Given the description of an element on the screen output the (x, y) to click on. 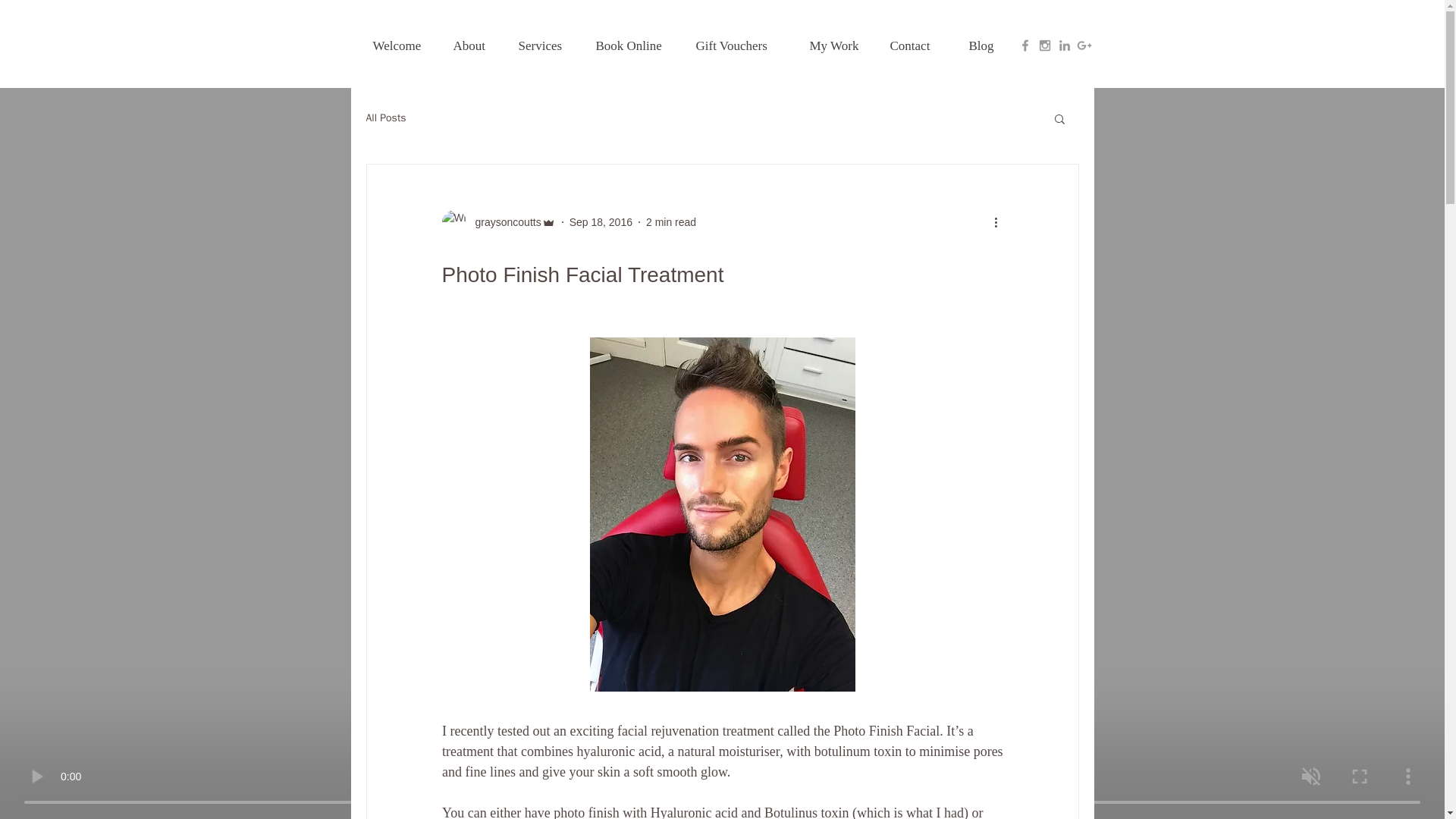
graysoncoutts (502, 221)
All Posts (385, 118)
Welcome (405, 45)
Book Online (638, 45)
Blog (988, 45)
graysoncoutts (497, 221)
Contact (921, 45)
2 min read (670, 221)
About (478, 45)
Sep 18, 2016 (600, 221)
